Given the description of an element on the screen output the (x, y) to click on. 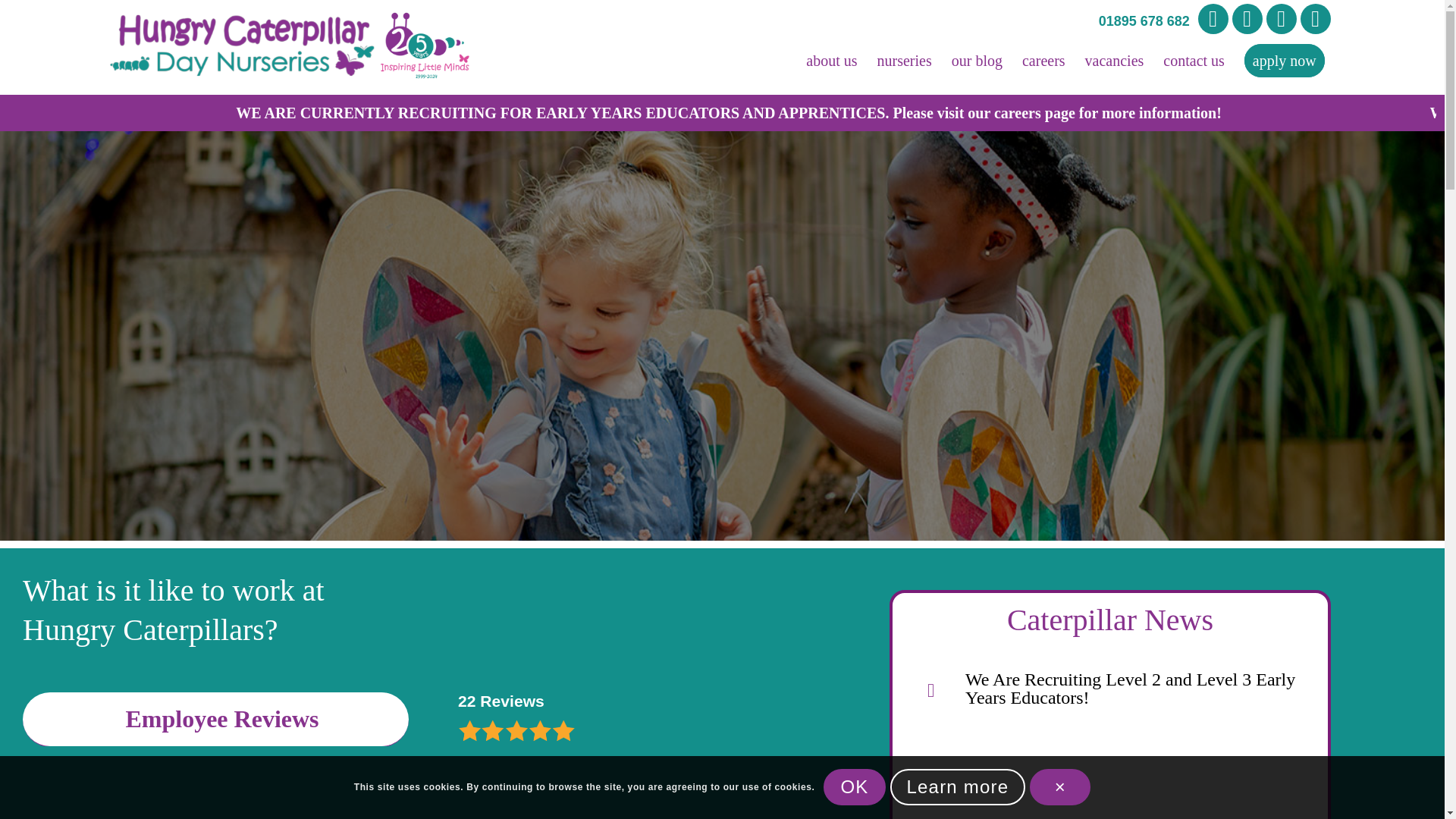
contact us (1193, 60)
careers (1043, 60)
vacancies (1114, 60)
Facebook (1213, 19)
We Are Recruiting Level 2 and Level 3 Early Years Educators! (1130, 688)
about us (831, 60)
Twitter (1281, 19)
Mail (1315, 19)
01895 678 682 (1144, 21)
nurseries (904, 60)
our blog (976, 60)
Instagram (1246, 19)
